Given the description of an element on the screen output the (x, y) to click on. 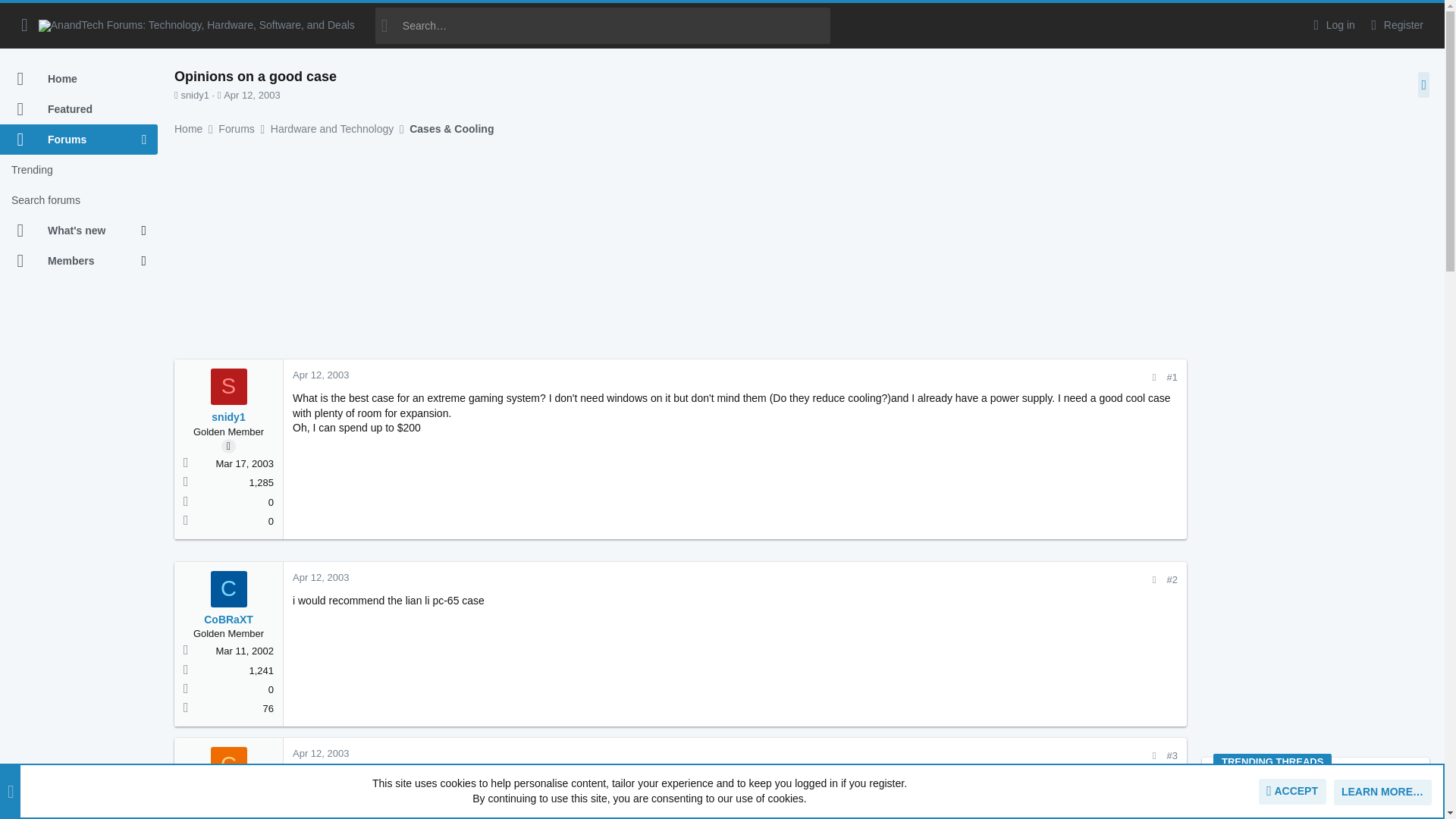
What's new (70, 230)
Log in (1332, 24)
Register (1395, 24)
Forums (70, 139)
Featured (78, 109)
Apr 12, 2003 at 6:01 PM (251, 94)
Home (78, 78)
Trending (78, 169)
Search forums (78, 200)
Original poster (228, 445)
